Given the description of an element on the screen output the (x, y) to click on. 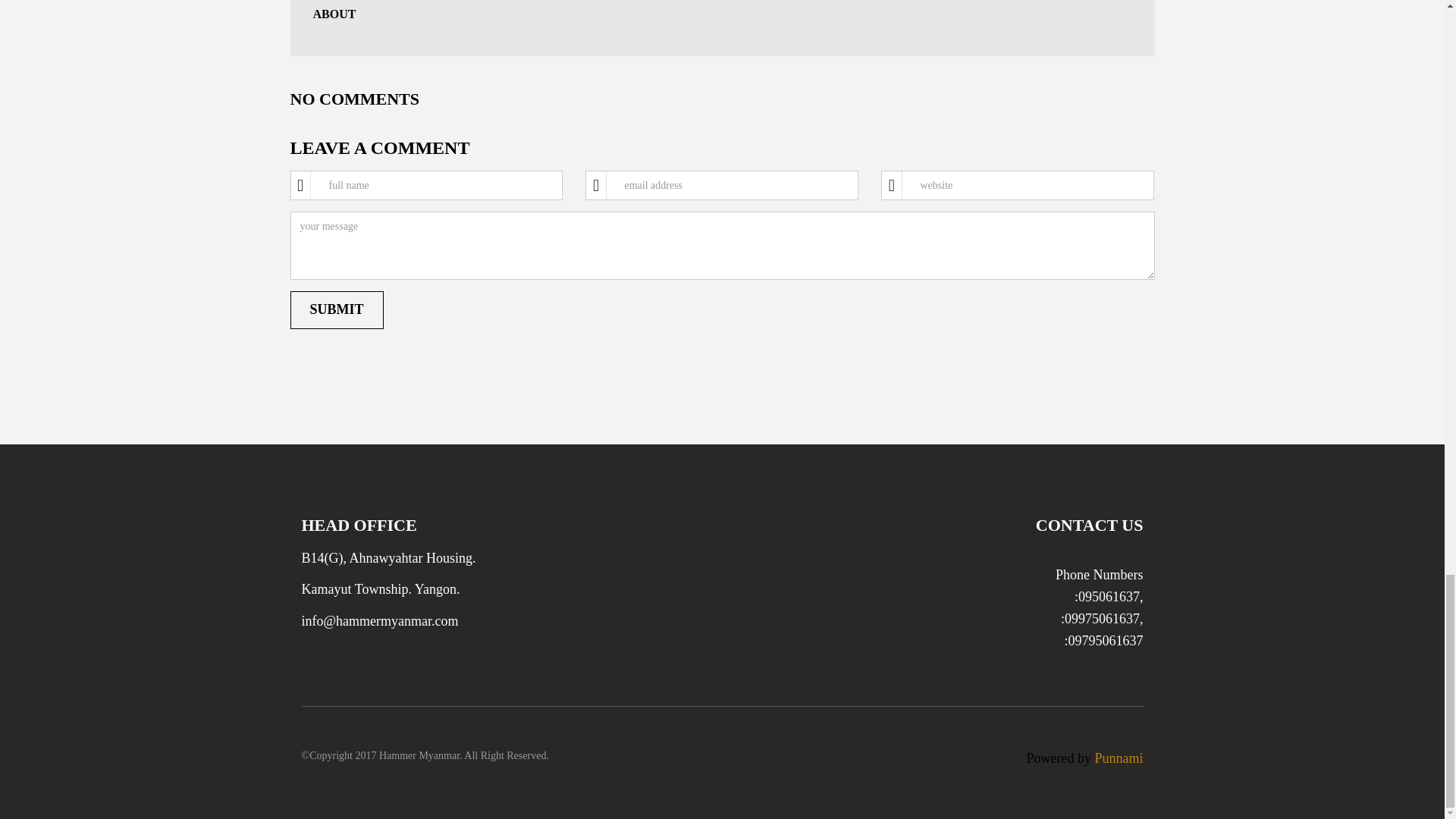
Submit (335, 310)
punnami.com.mm (1118, 758)
Submit (335, 310)
Punnami (1118, 758)
